Given the description of an element on the screen output the (x, y) to click on. 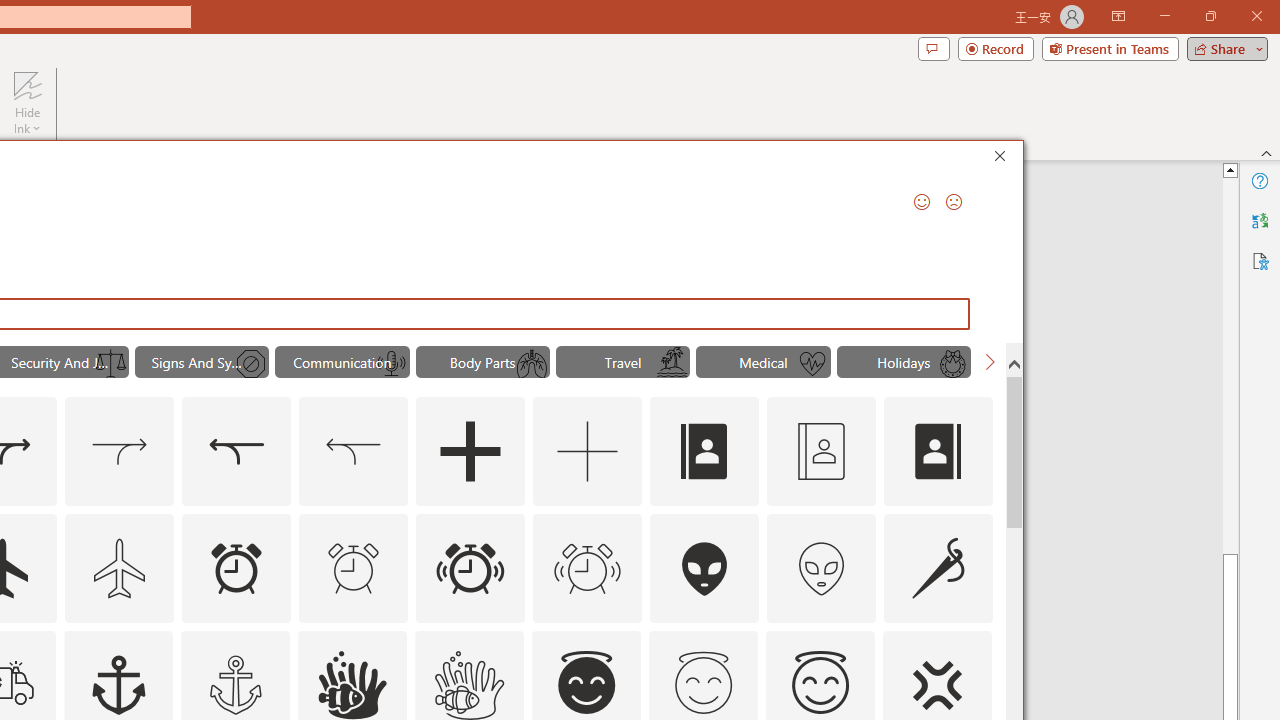
"Travel" Icons. (622, 362)
AutomationID: Icons_AlienFace (705, 568)
AutomationID: Icons_Acquisition_RTL (236, 452)
AutomationID: Icons_AlarmRinging (470, 568)
AutomationID: Icons_StopSign_M (250, 364)
AutomationID: Icons (703, 683)
"Communication" Icons. (342, 362)
